Given the description of an element on the screen output the (x, y) to click on. 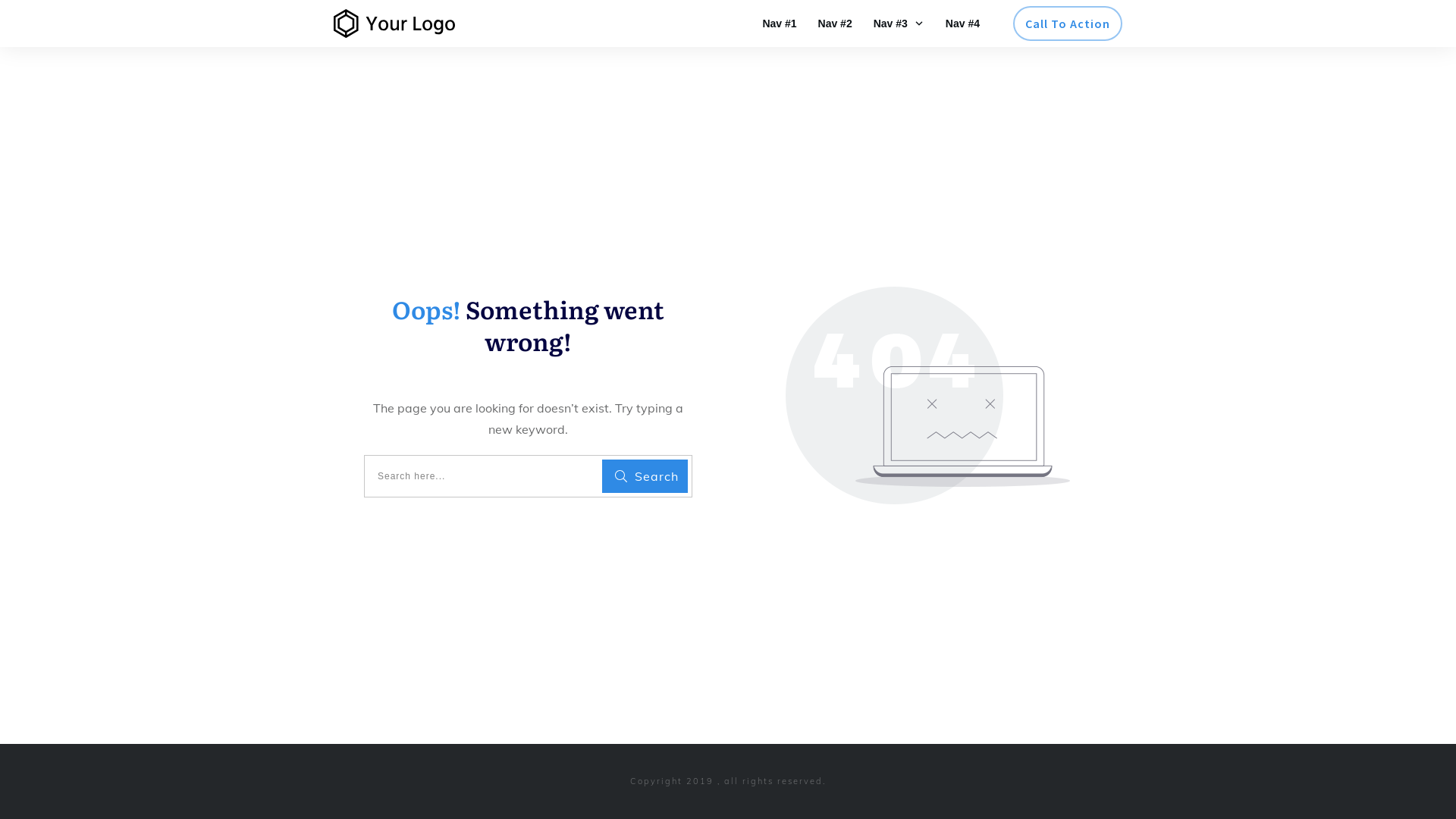
Call To Action Element type: text (1067, 23)
Nav #1 Element type: text (779, 23)
404 Element type: hover (927, 395)
Nav #4 Element type: text (962, 23)
Nav #2 Element type: text (835, 23)
Search Element type: text (644, 475)
Nav #3 Element type: text (898, 23)
